Given the description of an element on the screen output the (x, y) to click on. 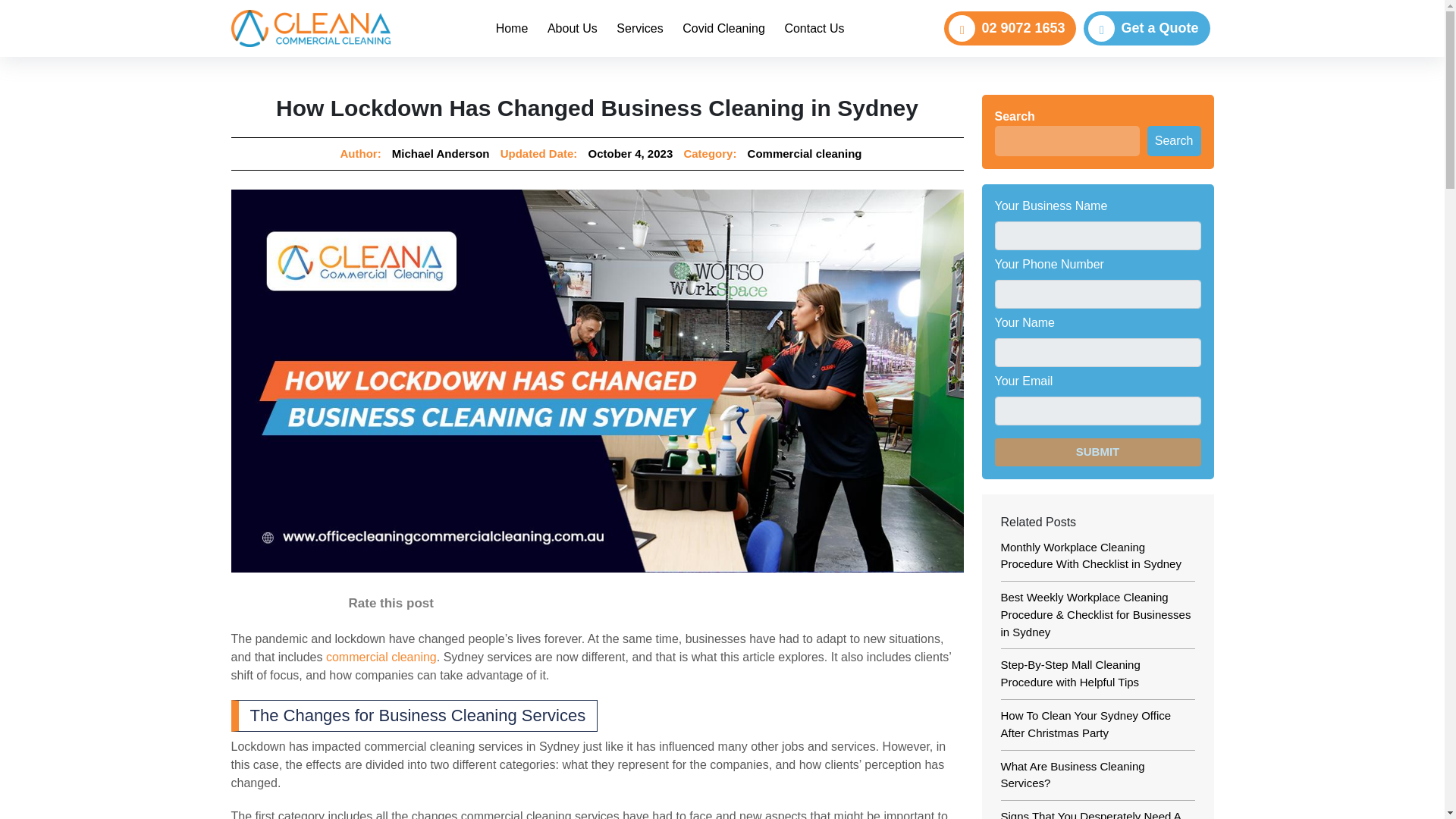
Commercial cleaning (669, 28)
Services (804, 153)
Michael Anderson (639, 28)
Submit (440, 153)
Step-By-Step Mall Cleaning Procedure with Helpful Tips (1097, 452)
Covid Cleaning (1070, 673)
Contact Us (723, 28)
Submit (814, 28)
What Are Business Cleaning Services? (1097, 452)
Home (1072, 775)
02 9072 1653 (511, 28)
commercial cleaning (1009, 28)
